Given the description of an element on the screen output the (x, y) to click on. 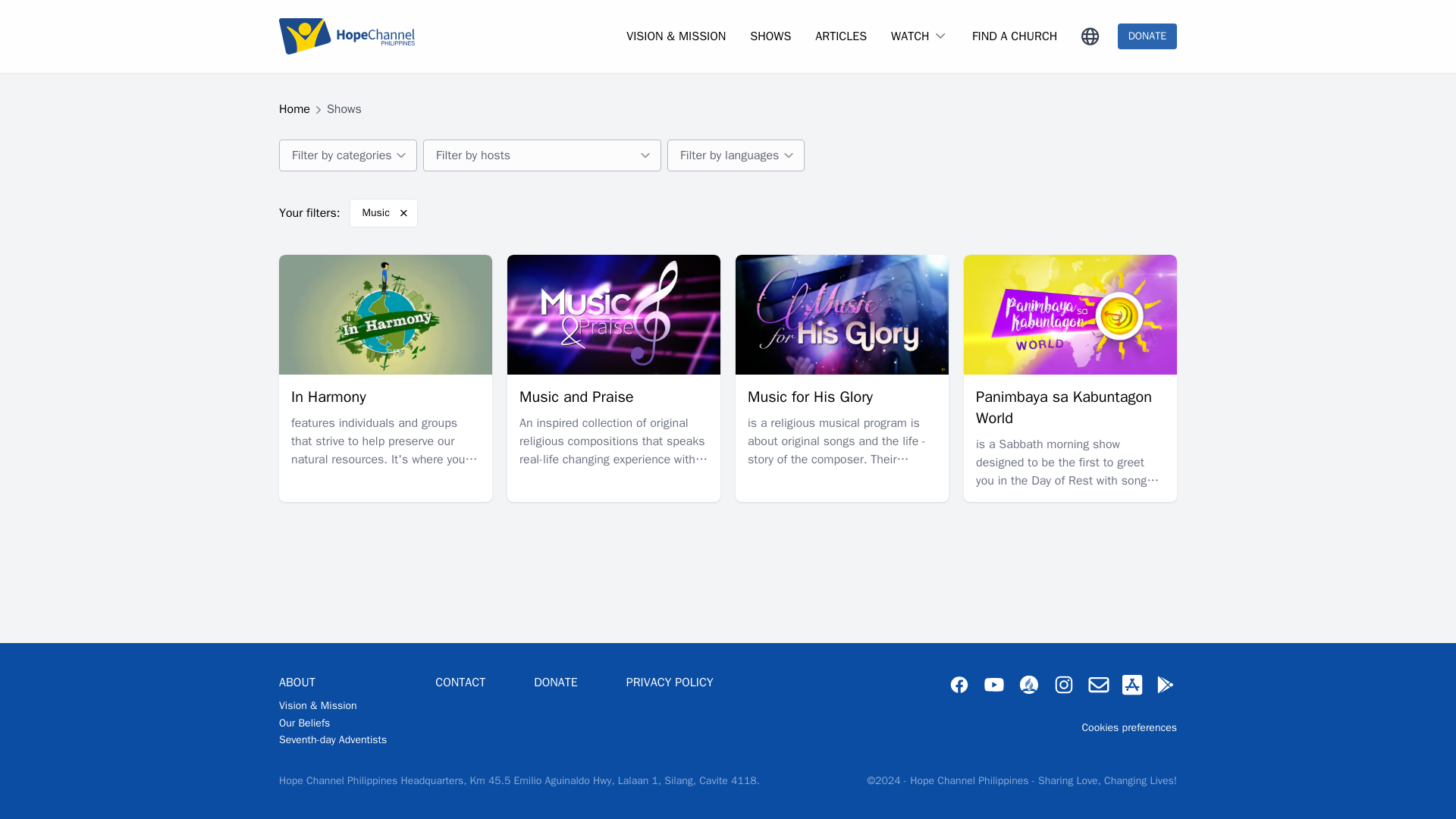
WATCH (910, 36)
ARTICLES (840, 36)
Music and Praise (576, 396)
FIND A CHURCH (1015, 36)
SHOWS (769, 36)
Hope Channel Philippines (346, 36)
DONATE (1147, 36)
In Harmony (328, 396)
Home (299, 109)
